Given the description of an element on the screen output the (x, y) to click on. 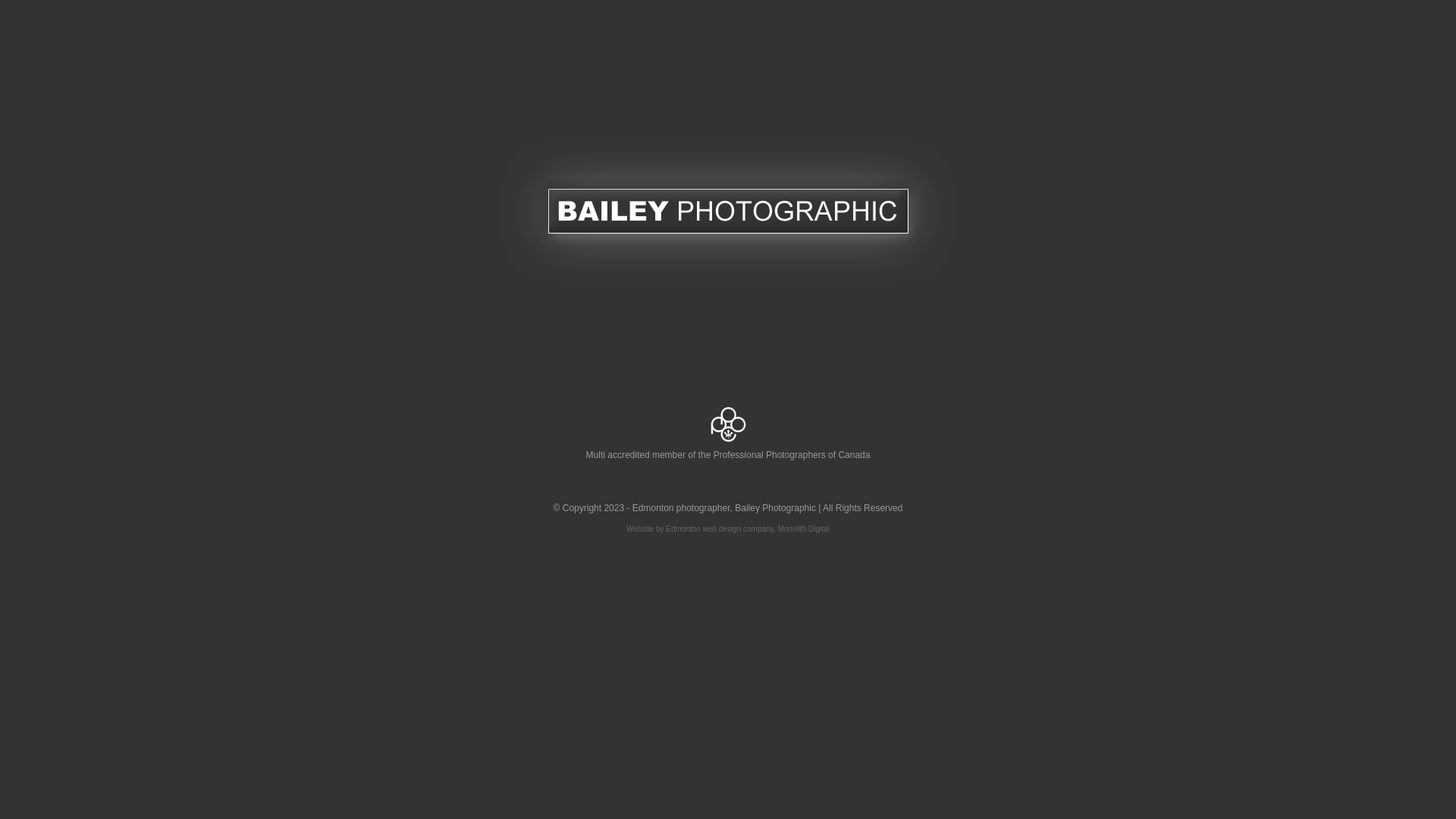
Edmonton photographer Element type: text (681, 507)
Edmonton web design Element type: text (702, 528)
Monolith Digital Element type: text (802, 528)
Bailey Photographic Element type: text (774, 507)
